Given the description of an element on the screen output the (x, y) to click on. 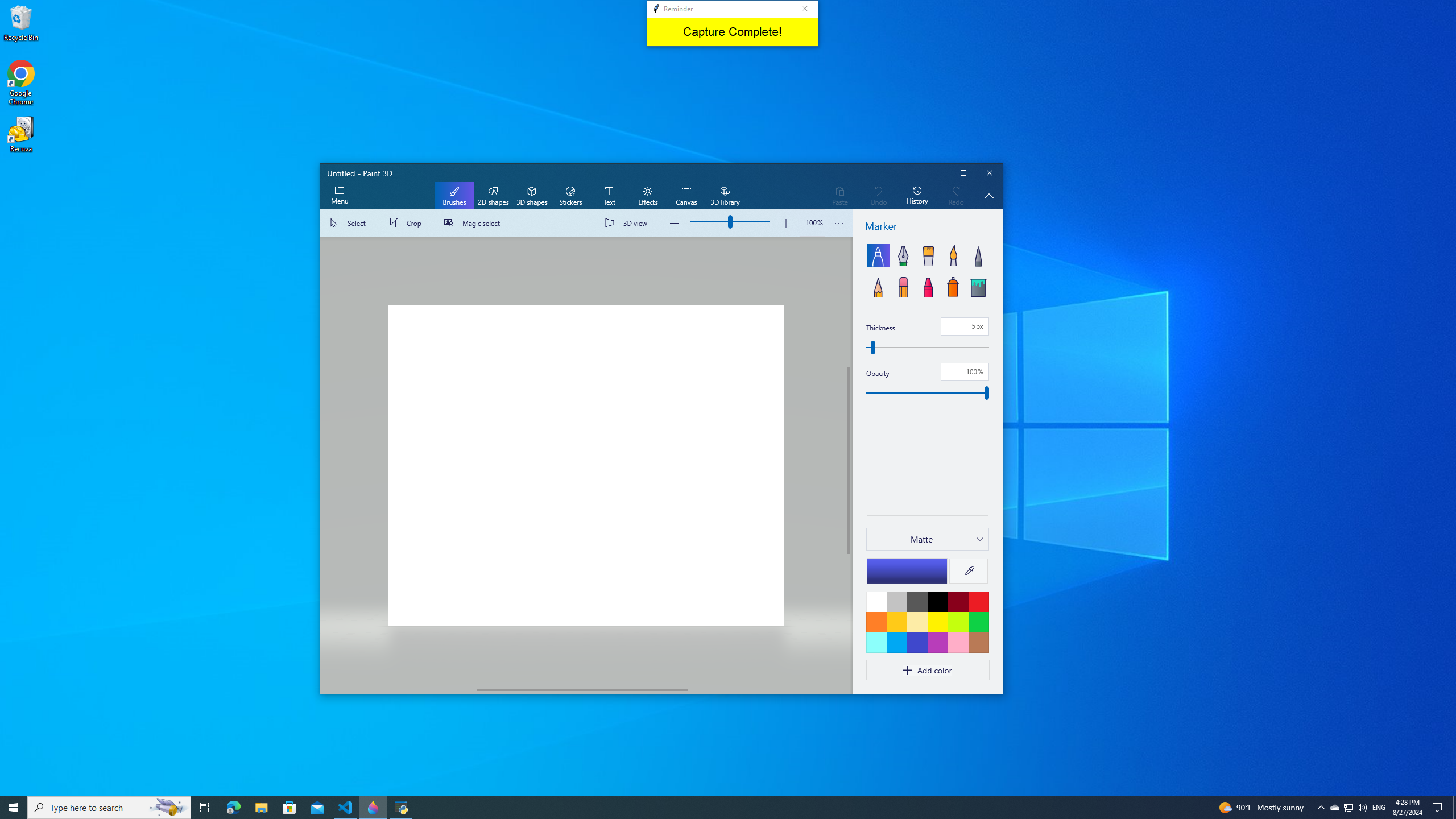
Aqua (876, 642)
Turquoise (896, 642)
Current color: (906, 570)
Marker (877, 255)
Watercolor (952, 255)
Expand menu (339, 195)
Thickness, pixels (927, 347)
Horizontal Large Decrease (398, 689)
View more options (839, 222)
Green (978, 621)
